Given the description of an element on the screen output the (x, y) to click on. 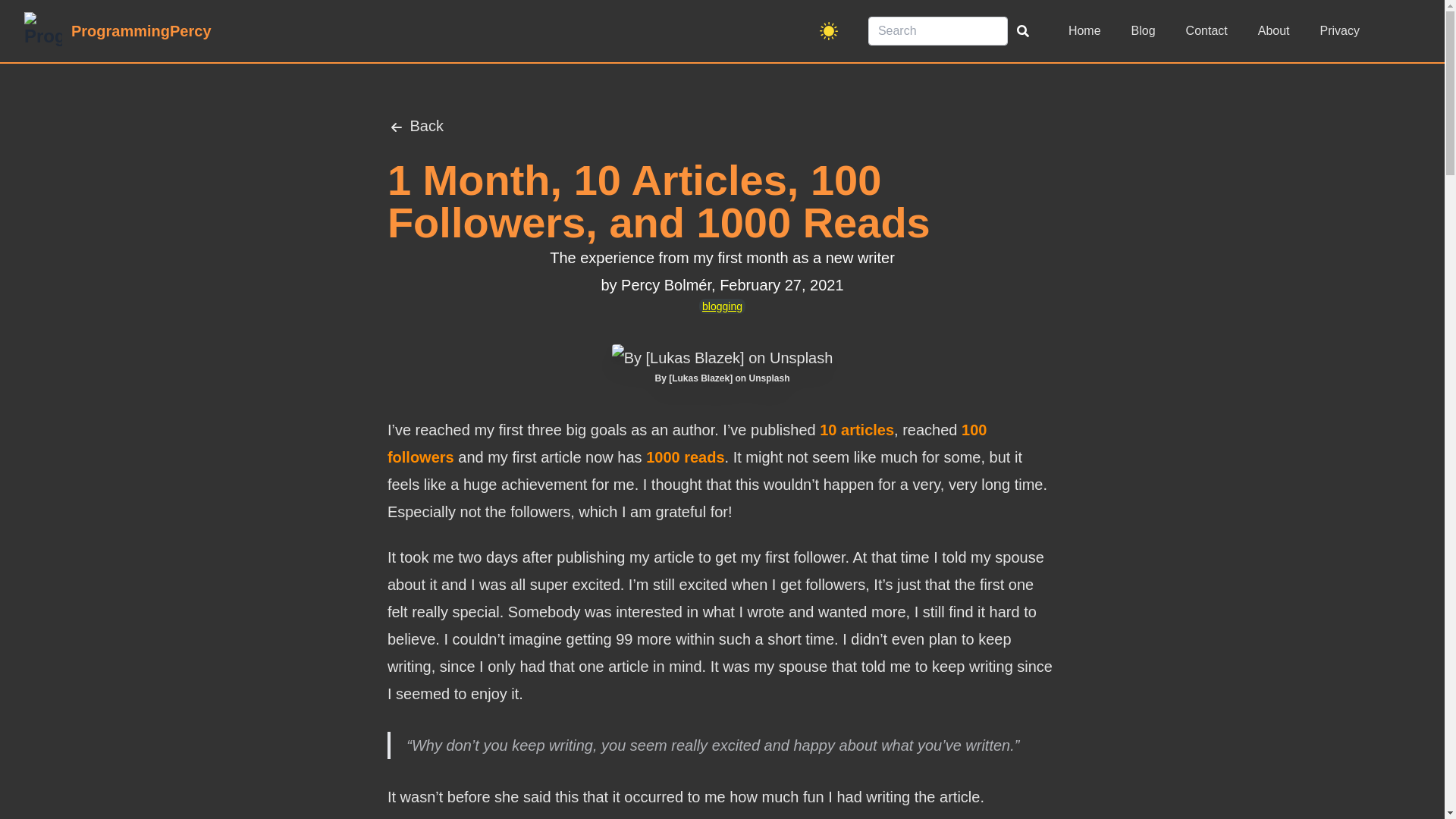
About (1273, 31)
Privacy (1339, 31)
Blog (1143, 31)
Home (1084, 31)
blogging (721, 305)
Contact (1206, 31)
ProgrammingPercy (117, 30)
